Given the description of an element on the screen output the (x, y) to click on. 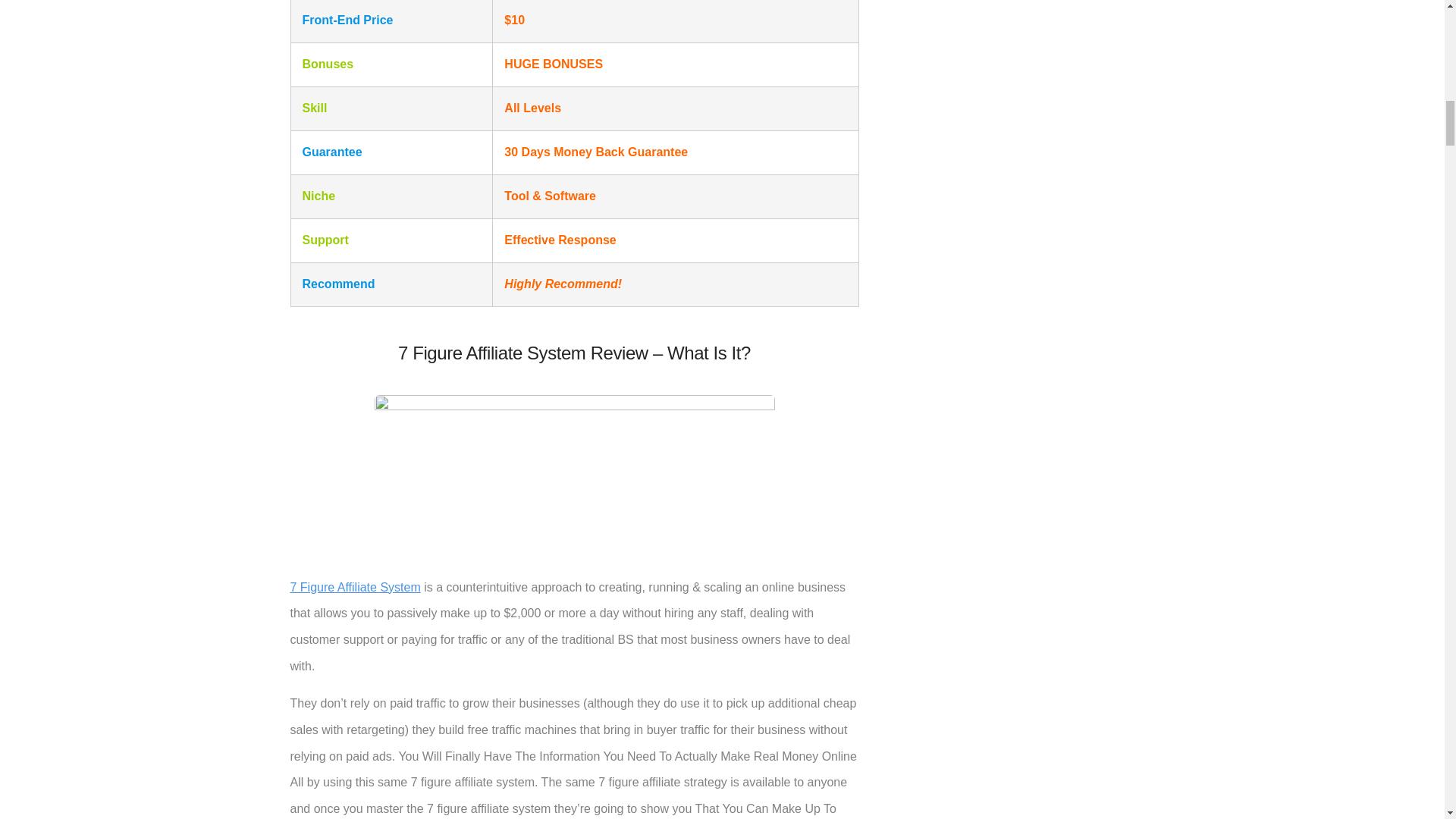
7 Figure Affiliate System (354, 586)
